Given the description of an element on the screen output the (x, y) to click on. 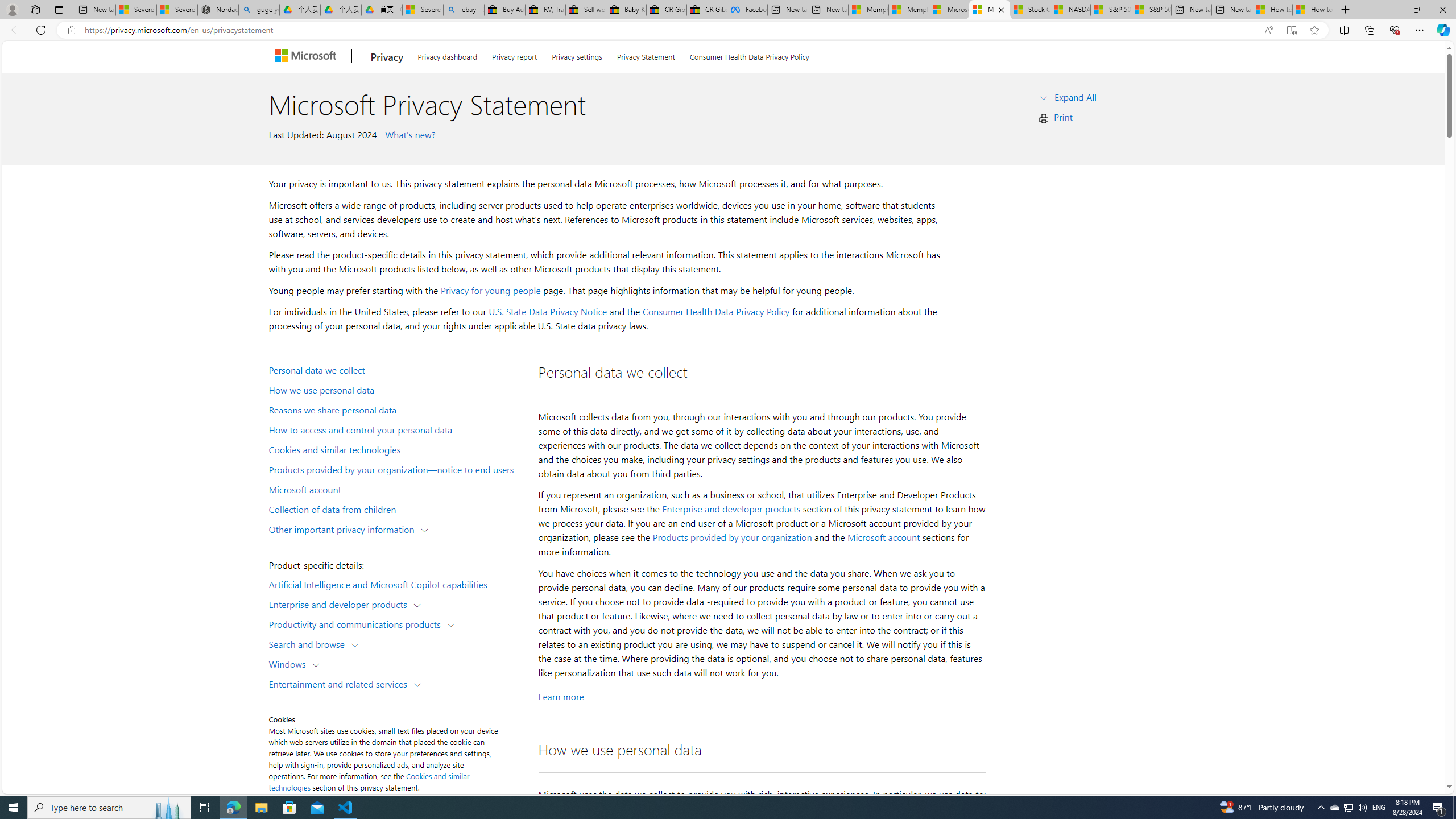
Enter Immersive Reader (F9) (1291, 29)
Privacy report (514, 54)
How we use personal data (395, 389)
Privacy settings (576, 54)
Enterprise and developer products (731, 508)
Personal data we collect (395, 368)
Privacy settings (577, 54)
